Given the description of an element on the screen output the (x, y) to click on. 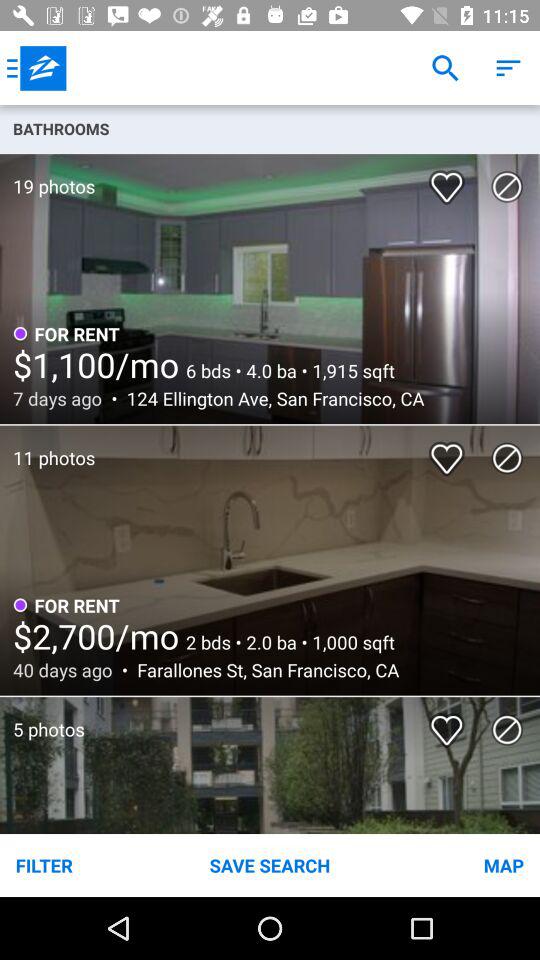
open the 6 bds 4 item (286, 370)
